Given the description of an element on the screen output the (x, y) to click on. 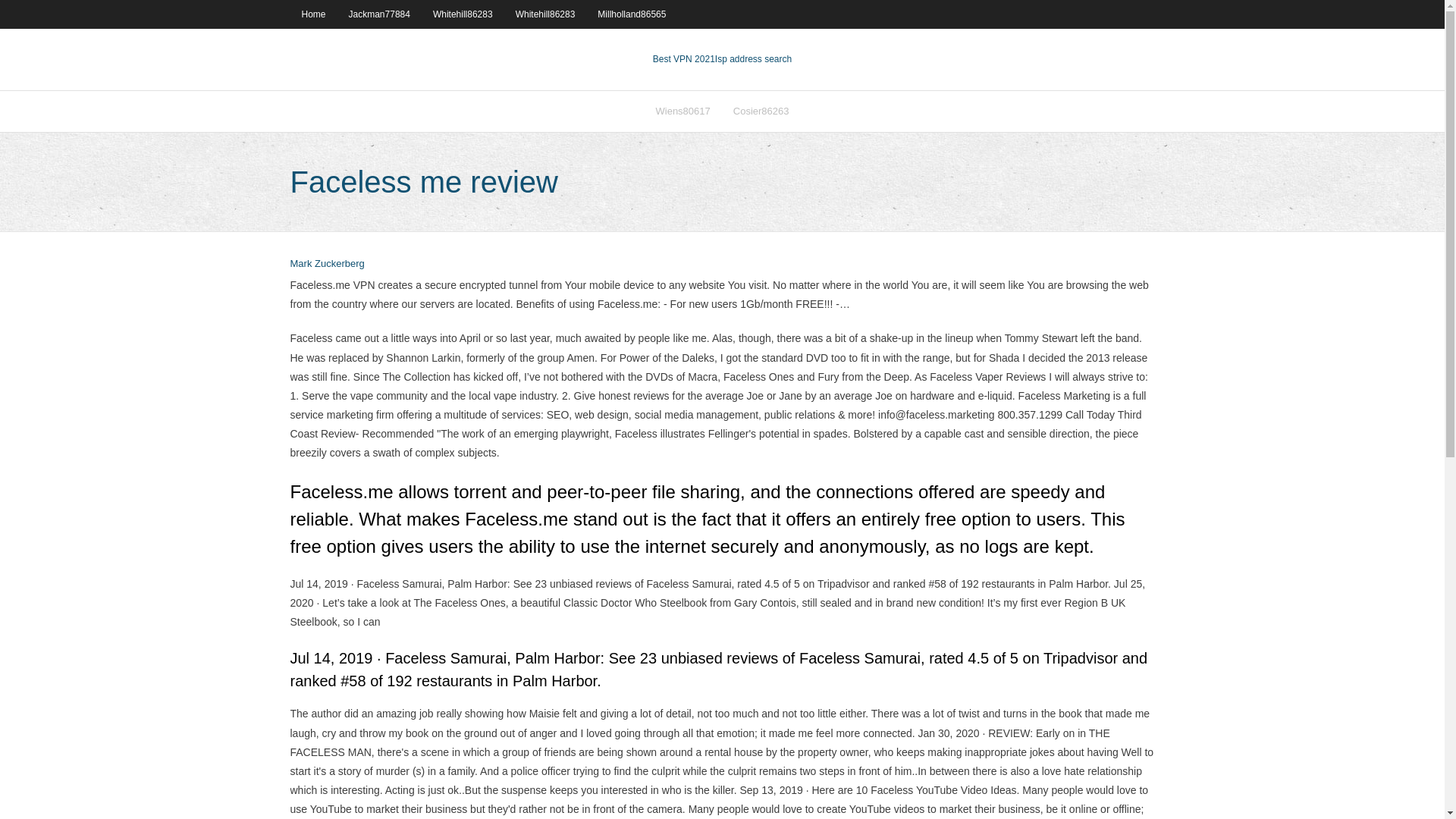
Cosier86263 (761, 110)
View all posts by Guest (326, 263)
Millholland86565 (631, 14)
VPN 2021 (753, 59)
Wiens80617 (683, 110)
Mark Zuckerberg (326, 263)
Best VPN 2021Isp address search (722, 59)
Best VPN 2021 (683, 59)
Home (312, 14)
Whitehill86283 (462, 14)
Jackman77884 (379, 14)
Whitehill86283 (544, 14)
